Given the description of an element on the screen output the (x, y) to click on. 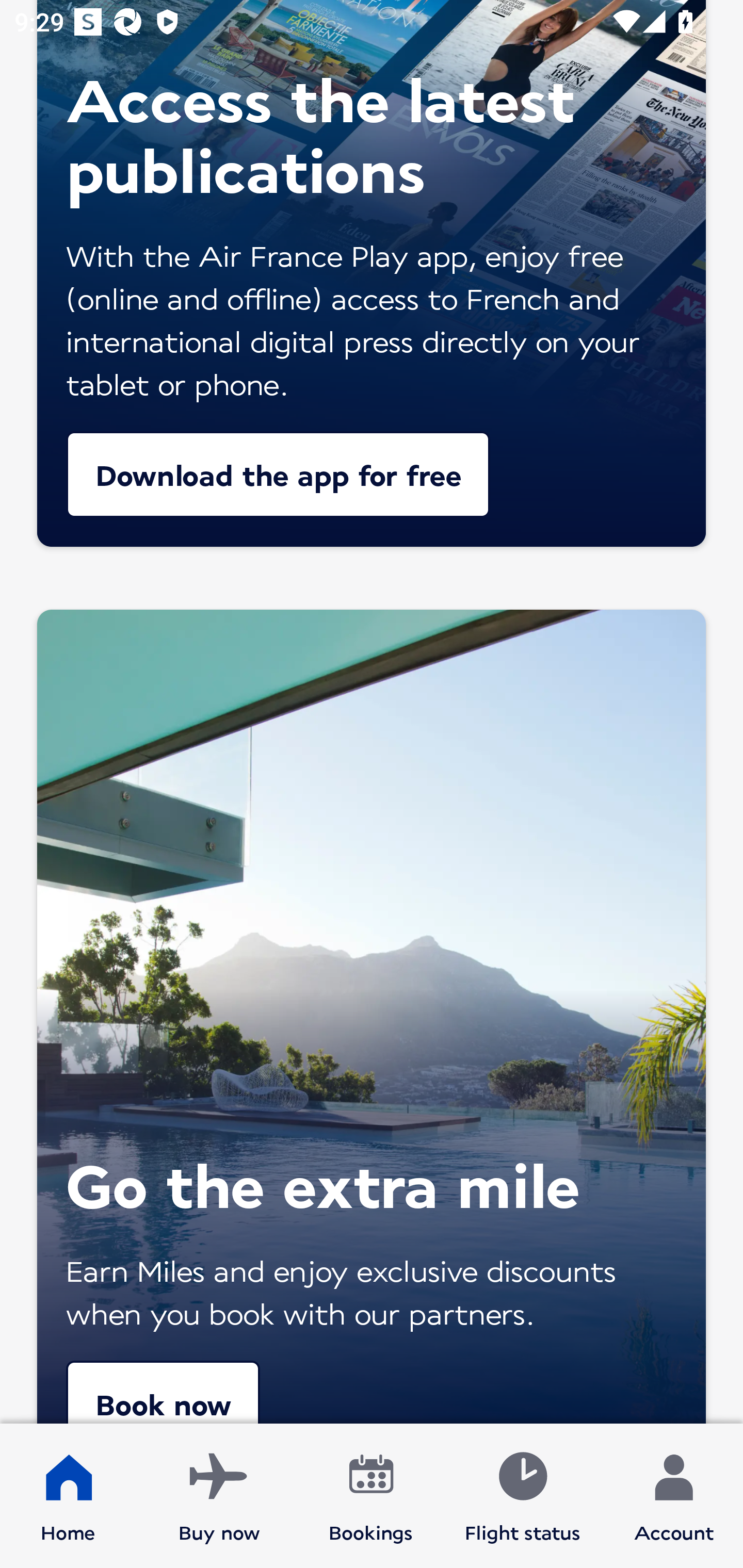
Buy now (219, 1495)
Bookings (370, 1495)
Flight status (522, 1495)
Account (674, 1495)
